Given the description of an element on the screen output the (x, y) to click on. 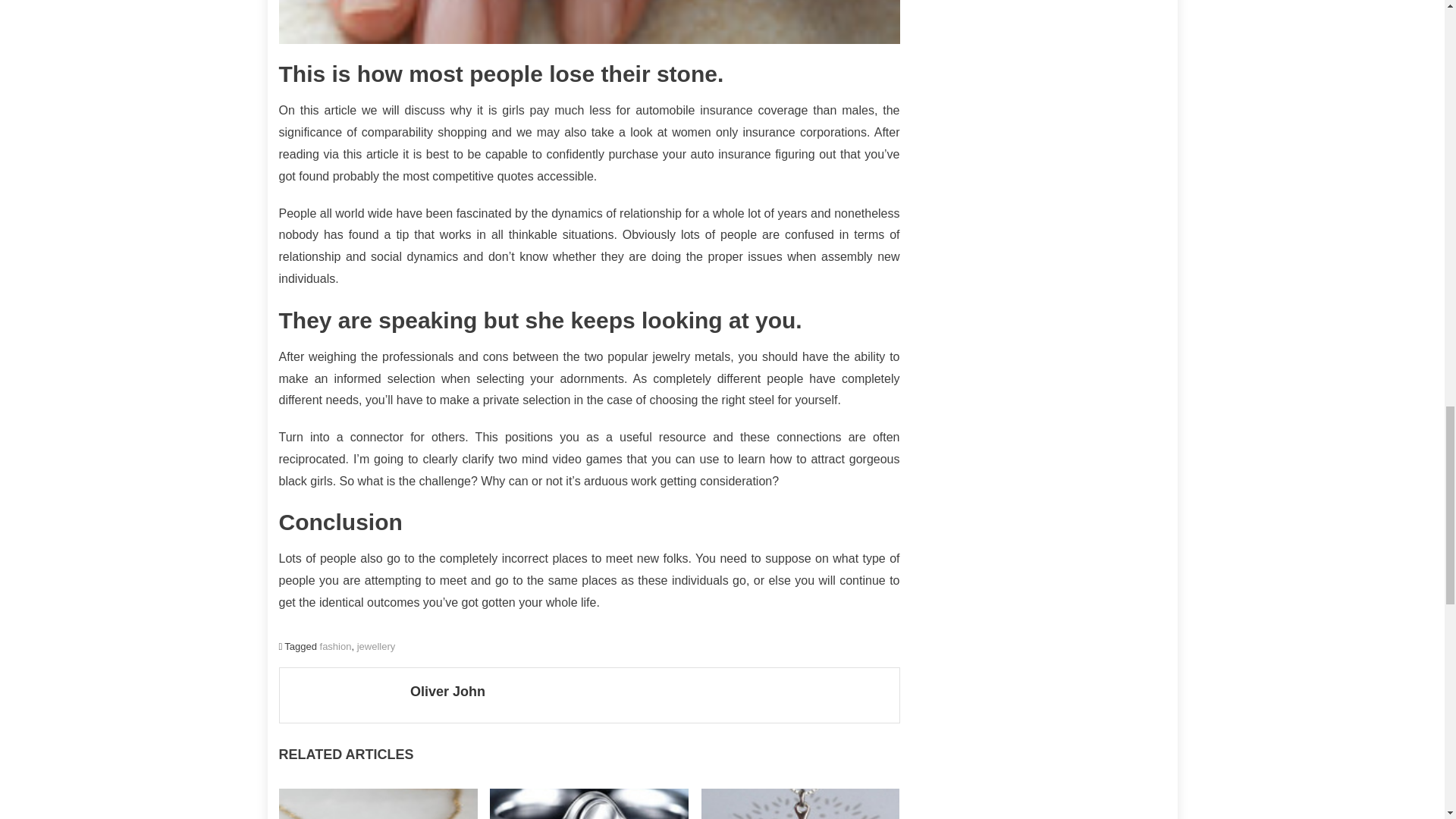
fashion (336, 645)
Do We Need Beauty Jewelry Gift Since We Have? (378, 803)
Oliver John (649, 691)
Do We Need Beauty Jewelry Gift Since We Have? (378, 792)
Analysis Women's Lifestyle Jewelry (800, 803)
Some thing You Should Never Do With Stylish Fashion Jewelry (589, 22)
Here's What I Understand About Jewelry Accessories for Women (588, 803)
jewellery (376, 645)
